Given the description of an element on the screen output the (x, y) to click on. 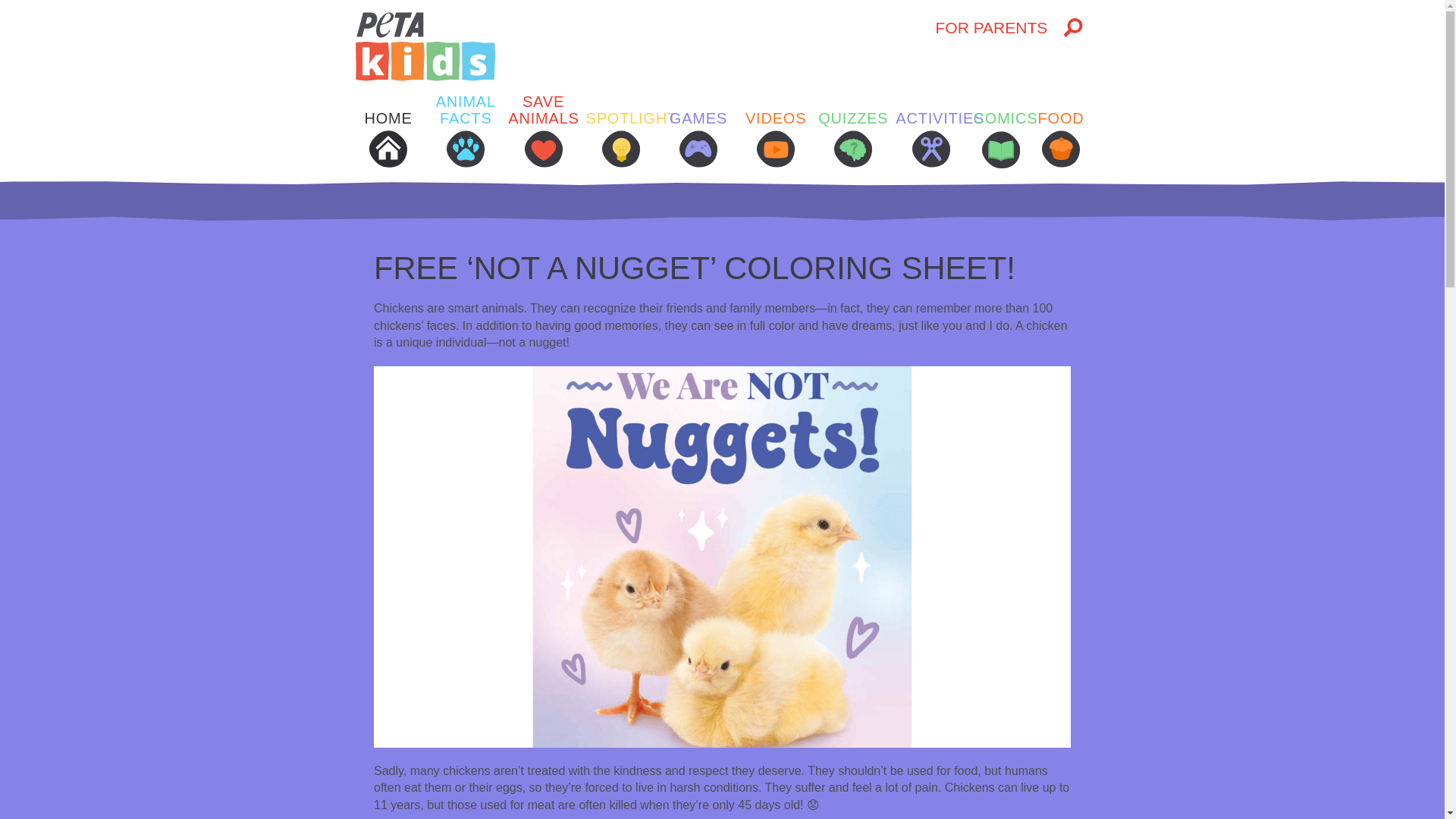
PETA Kids (643, 46)
FOR PARENTS (991, 28)
Make Your Own PETA Kids Gear (1110, 394)
